Given the description of an element on the screen output the (x, y) to click on. 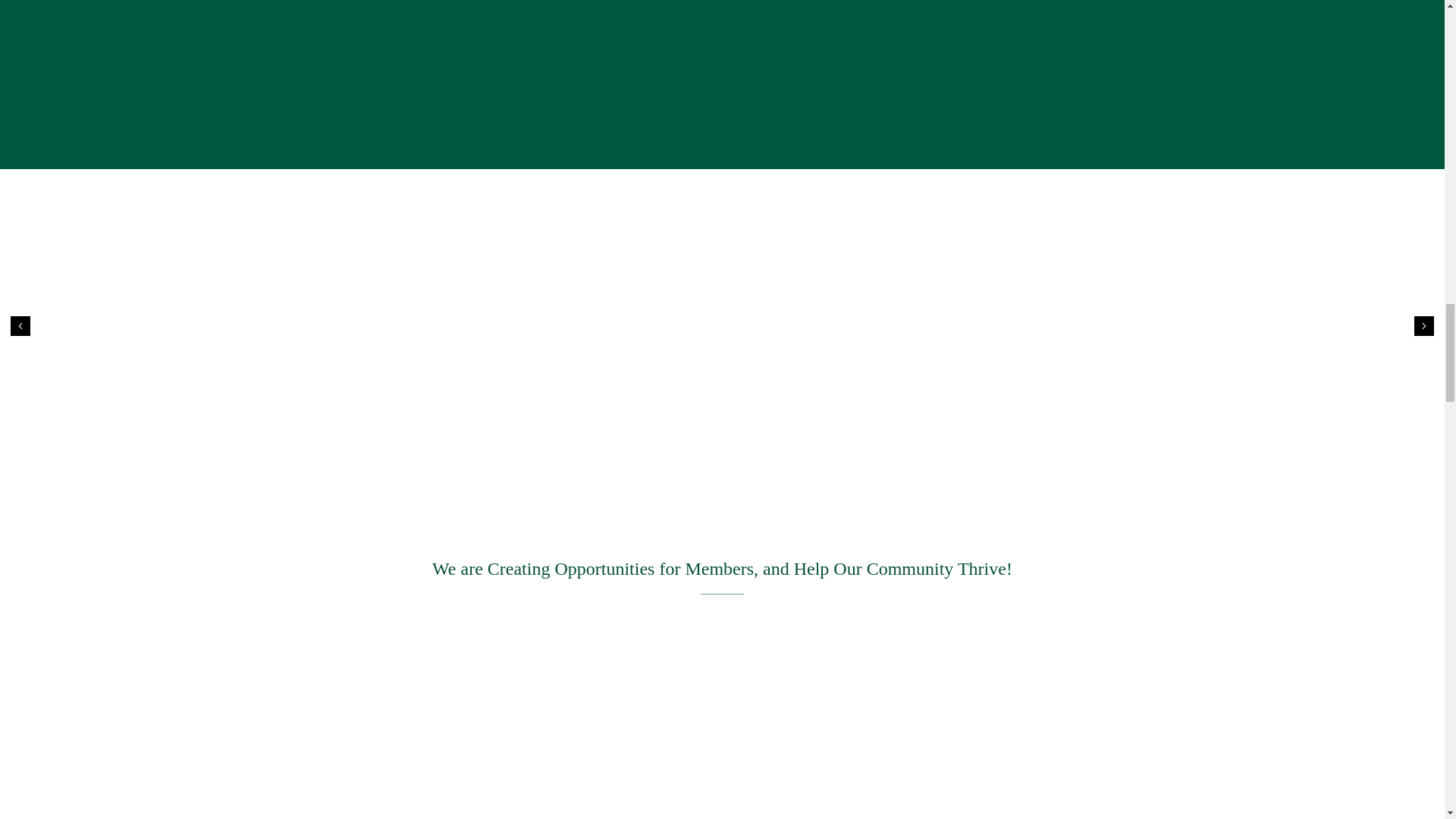
FallFest24lowres (721, 49)
